Given the description of an element on the screen output the (x, y) to click on. 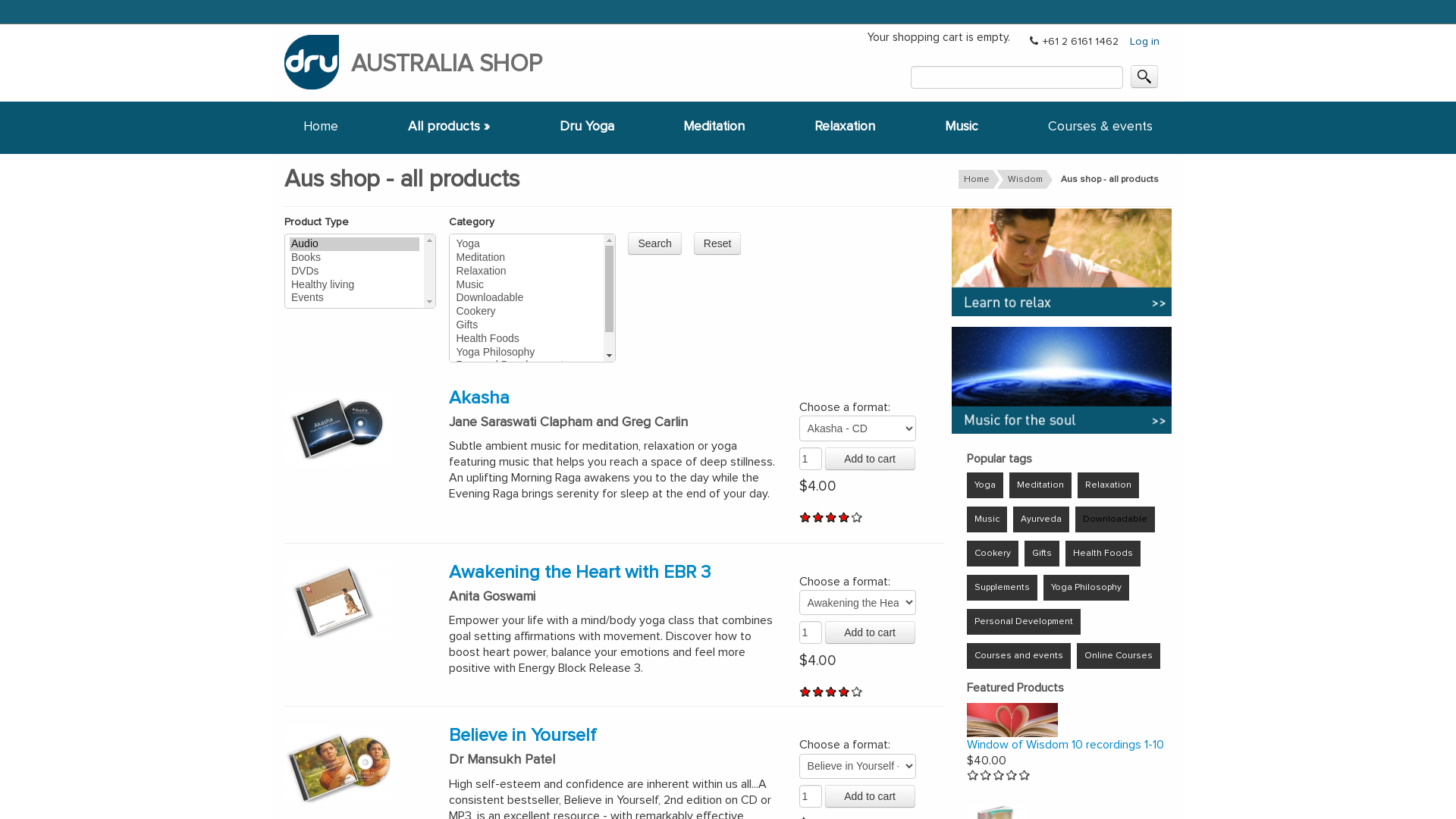
Add to cart Element type: text (870, 632)
Relaxation Element type: text (844, 124)
Give Akasha 2/5 Element type: text (818, 516)
Give Akasha 4/5 Element type: text (843, 516)
Give Window of Wisdom 10 recordings 1-10 1/5 Element type: text (972, 774)
Awakening the Heart with EBR 3 Element type: text (579, 572)
Downloadable Element type: text (1114, 519)
Personal Development Element type: text (1023, 621)
Give Window of Wisdom 10 recordings 1-10 3/5 Element type: text (998, 774)
Music Element type: text (986, 519)
Aus shop - all products Element type: text (1107, 178)
Log in Element type: text (1144, 41)
Akasha - Music for inner stillness Element type: hover (337, 427)
Add to cart Element type: text (870, 458)
AUSTRALIA SHOP Element type: text (446, 64)
Give Window of Wisdom 10 recordings 1-10 4/5 Element type: text (1011, 774)
Supplements Element type: text (1001, 587)
Cookery Element type: text (992, 553)
Courses & events Element type: text (1100, 124)
Rate Element type: text (21, 11)
Yoga Philosophy Element type: text (1086, 587)
Music Element type: text (961, 124)
Health Foods Element type: text (1102, 553)
Give Window of Wisdom 10 recordings 1-10 5/5 Element type: text (1024, 774)
Give Akasha 3/5 Element type: text (831, 516)
Believe in Yourself Element type: text (522, 735)
Reset Element type: text (717, 243)
Give Awakening the Heart with EBR 3 5/5 Element type: text (856, 690)
Yoga Element type: text (984, 485)
. Element type: text (1143, 76)
Give Awakening the Heart with EBR 3 3/5 Element type: text (831, 690)
Give Akasha 1/5 Element type: text (805, 516)
Gifts Element type: text (1041, 553)
Personal Development-Believe in Yourself Element type: hover (337, 764)
Search Element type: text (653, 243)
Return to DruYoga.com Aus home Element type: hover (317, 61)
Meditation Element type: text (713, 124)
Meditation Element type: text (1040, 485)
Courses and events Element type: text (1018, 655)
Online Courses Element type: text (1118, 655)
Give Awakening the Heart with EBR 3 1/5 Element type: text (805, 690)
Window of Wisdom Element type: hover (1011, 719)
Give Awakening the Heart with EBR 3 4/5 Element type: text (843, 690)
Dru Yoga Element type: text (586, 124)
Add to cart Element type: text (870, 795)
Home Element type: text (974, 178)
Wisdom Element type: text (1023, 178)
Give Akasha 5/5 Element type: text (856, 516)
Give Awakening the Heart with EBR 3 2/5 Element type: text (818, 690)
Home Element type: text (320, 124)
Give Window of Wisdom 10 recordings 1-10 2/5 Element type: text (985, 774)
Window of Wisdom 10 recordings 1-10 Element type: text (1065, 744)
Ayurveda Element type: text (1041, 519)
Yoga class - Awakening the Heart (EBR 3) Element type: hover (337, 601)
Relaxation Element type: text (1108, 485)
Akasha Element type: text (478, 398)
